Given the description of an element on the screen output the (x, y) to click on. 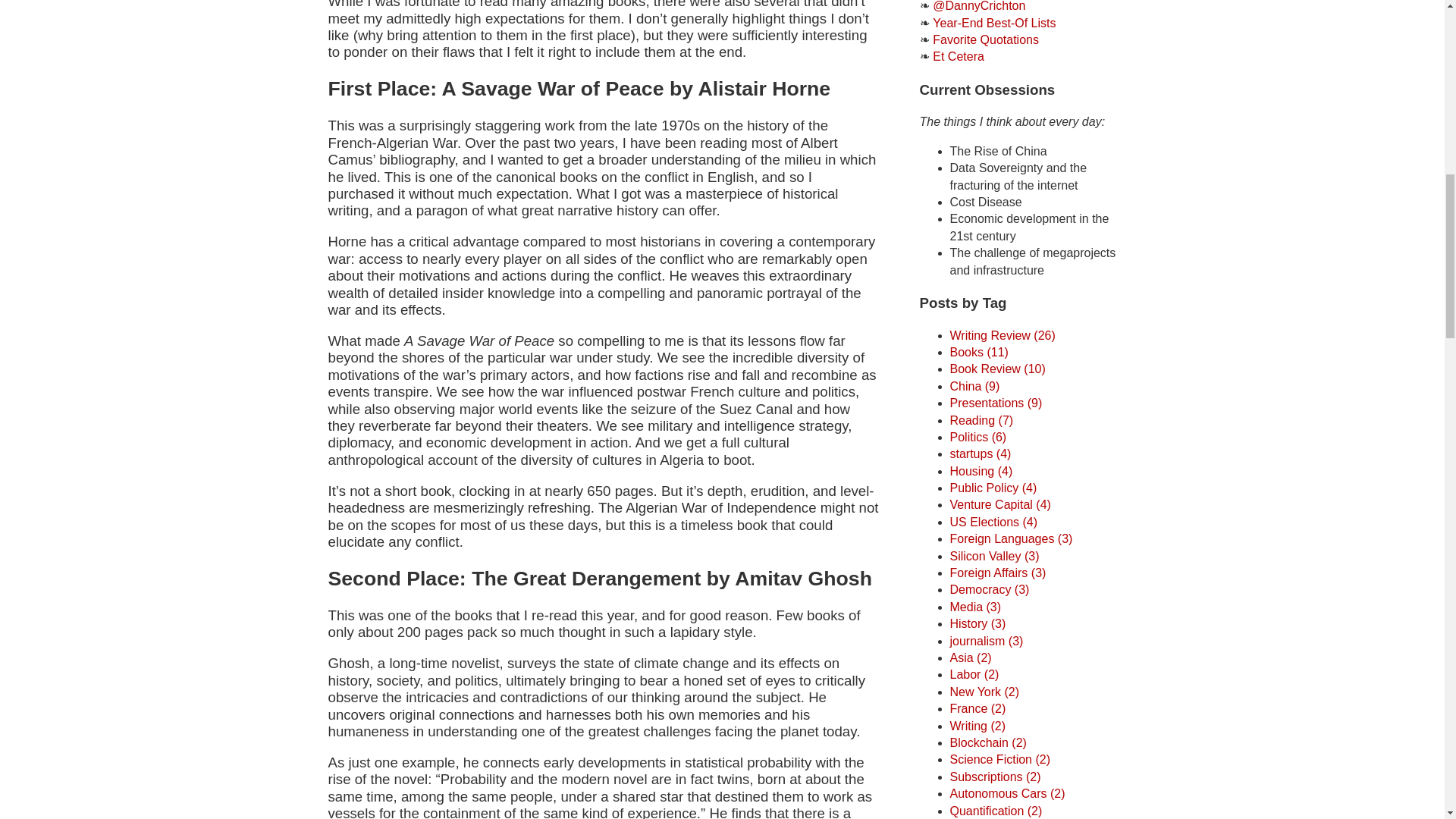
Year-End Best-Of Lists (994, 22)
Et Cetera (958, 56)
Favorite Quotations (986, 39)
